Given the description of an element on the screen output the (x, y) to click on. 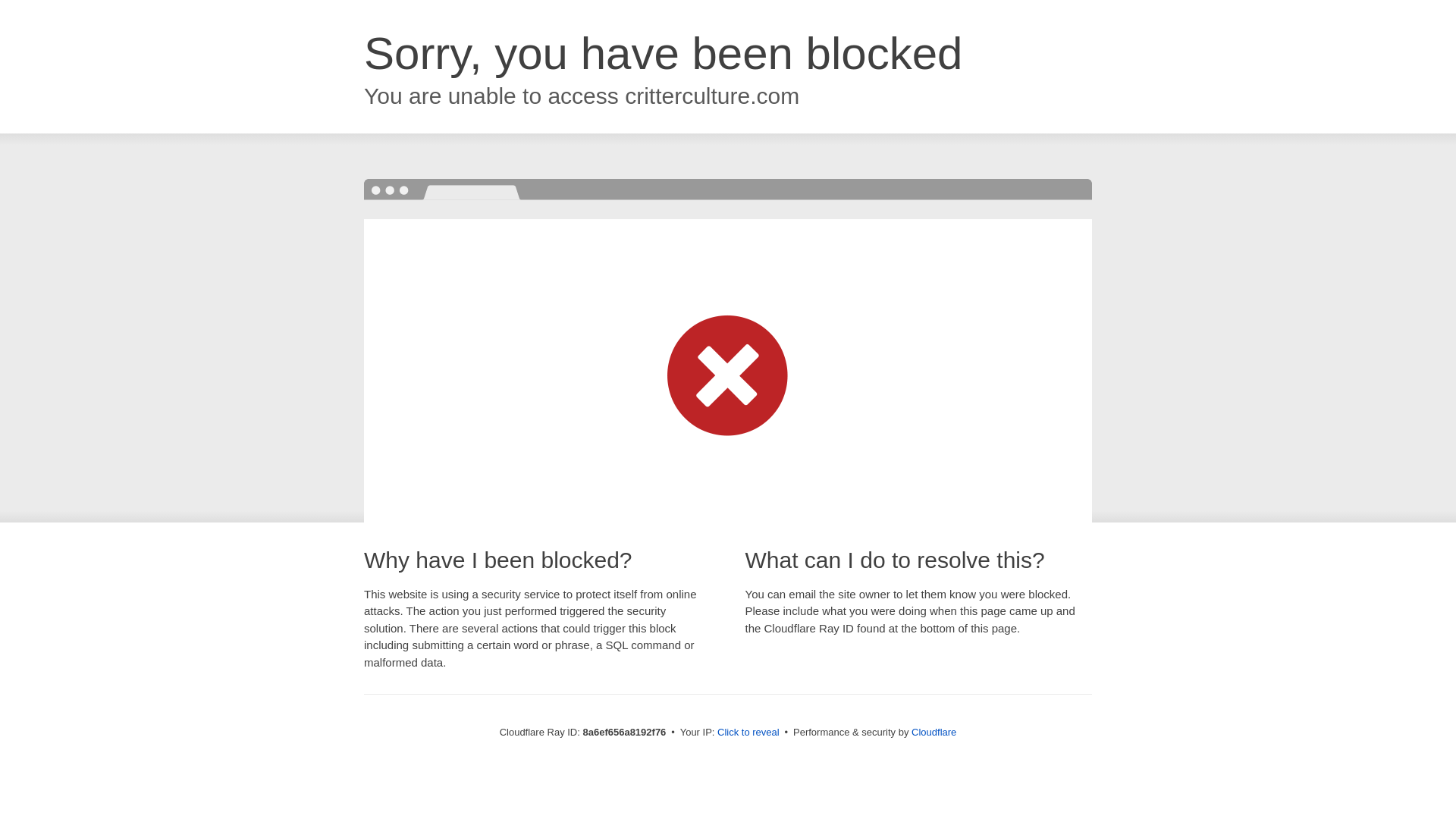
Cloudflare (933, 731)
Click to reveal (747, 732)
